Given the description of an element on the screen output the (x, y) to click on. 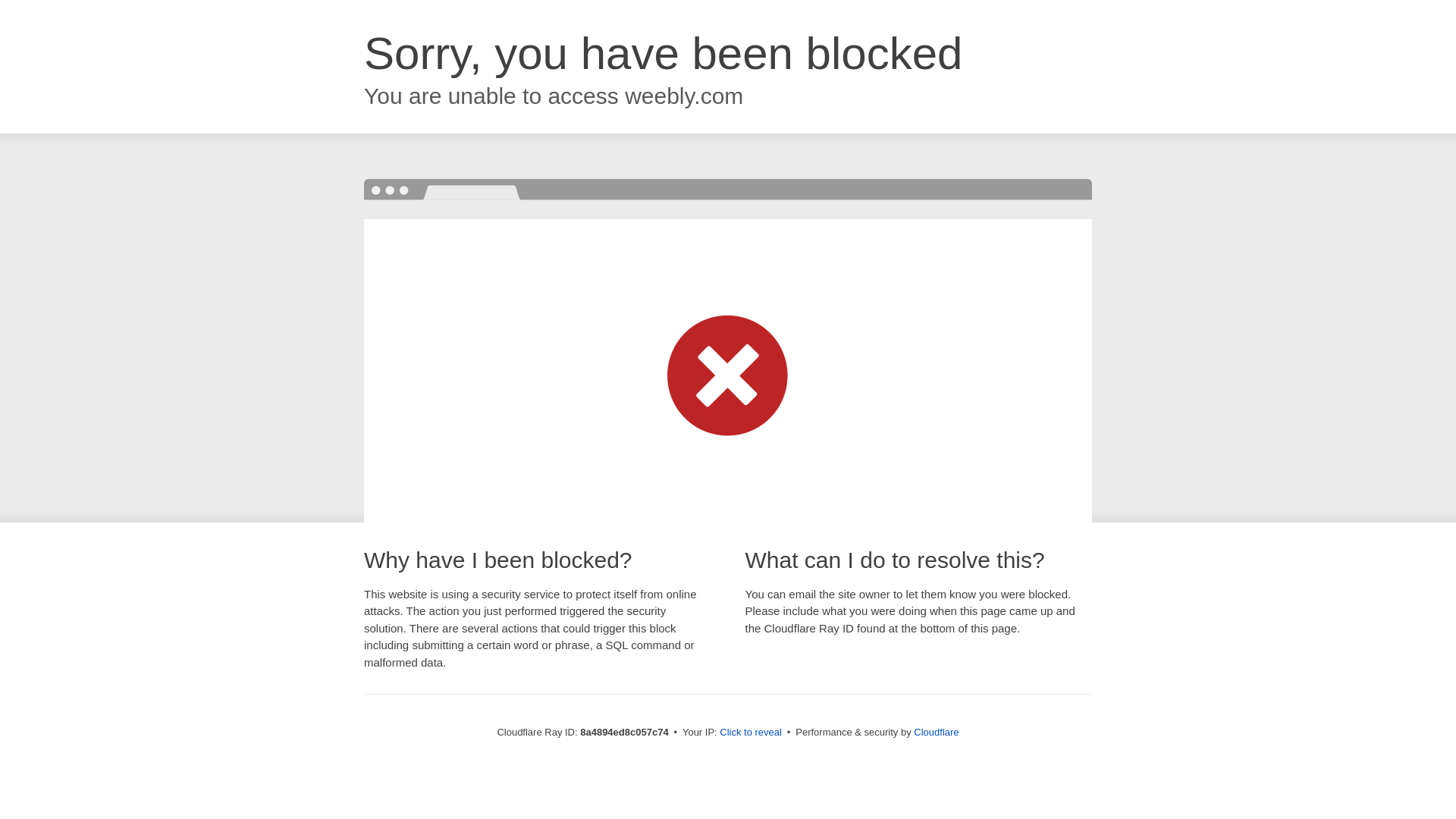
Click to reveal (750, 732)
Cloudflare (936, 731)
